Given the description of an element on the screen output the (x, y) to click on. 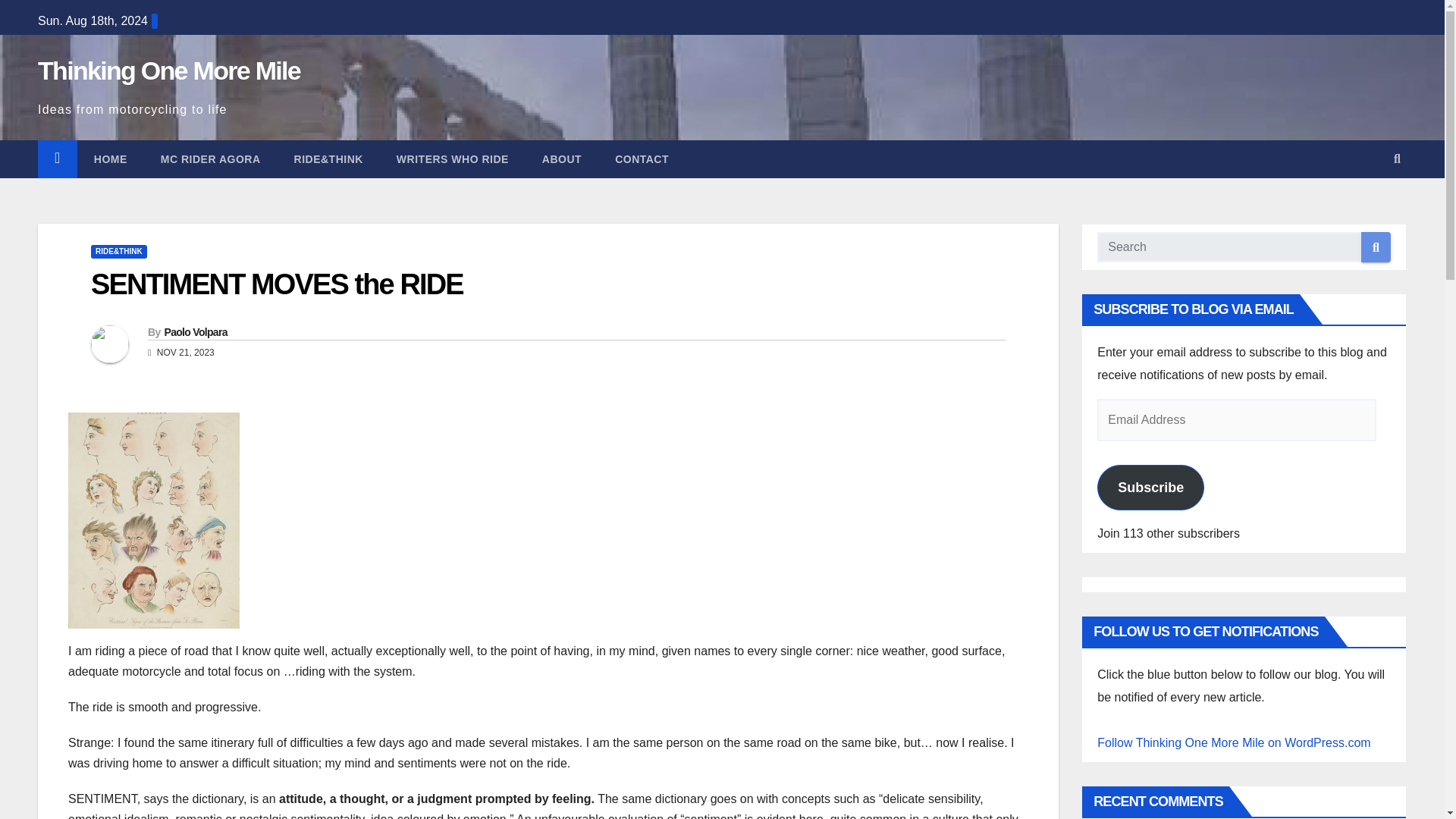
CONTACT (641, 159)
Permalink to: SENTIMENT MOVES the RIDE (276, 284)
SENTIMENT MOVES the RIDE (276, 284)
About (561, 159)
HOME (110, 159)
MC RIDER AGORA (211, 159)
Home (110, 159)
Thinking One More Mile (168, 70)
ABOUT (561, 159)
WRITERS WHO RIDE (452, 159)
